Given the description of an element on the screen output the (x, y) to click on. 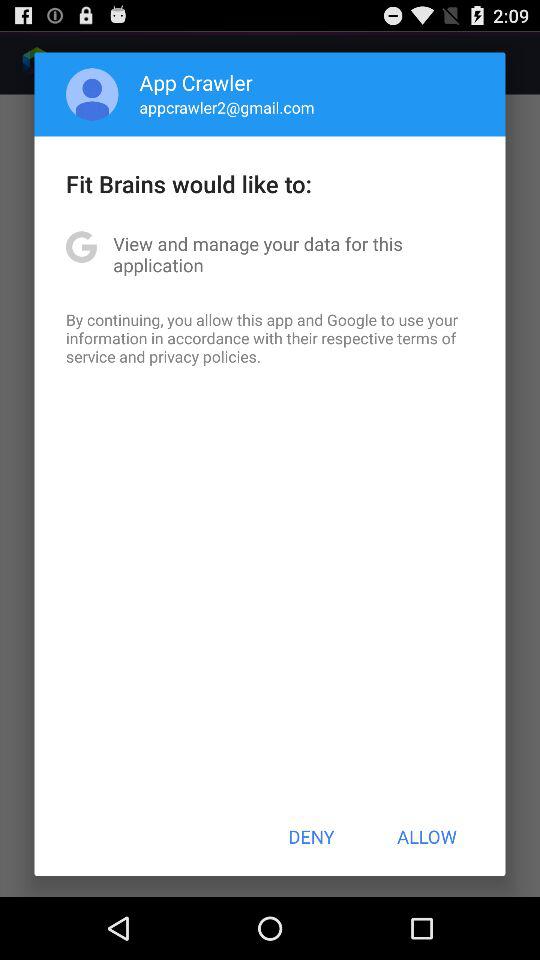
turn on the app next to the app crawler icon (92, 94)
